Given the description of an element on the screen output the (x, y) to click on. 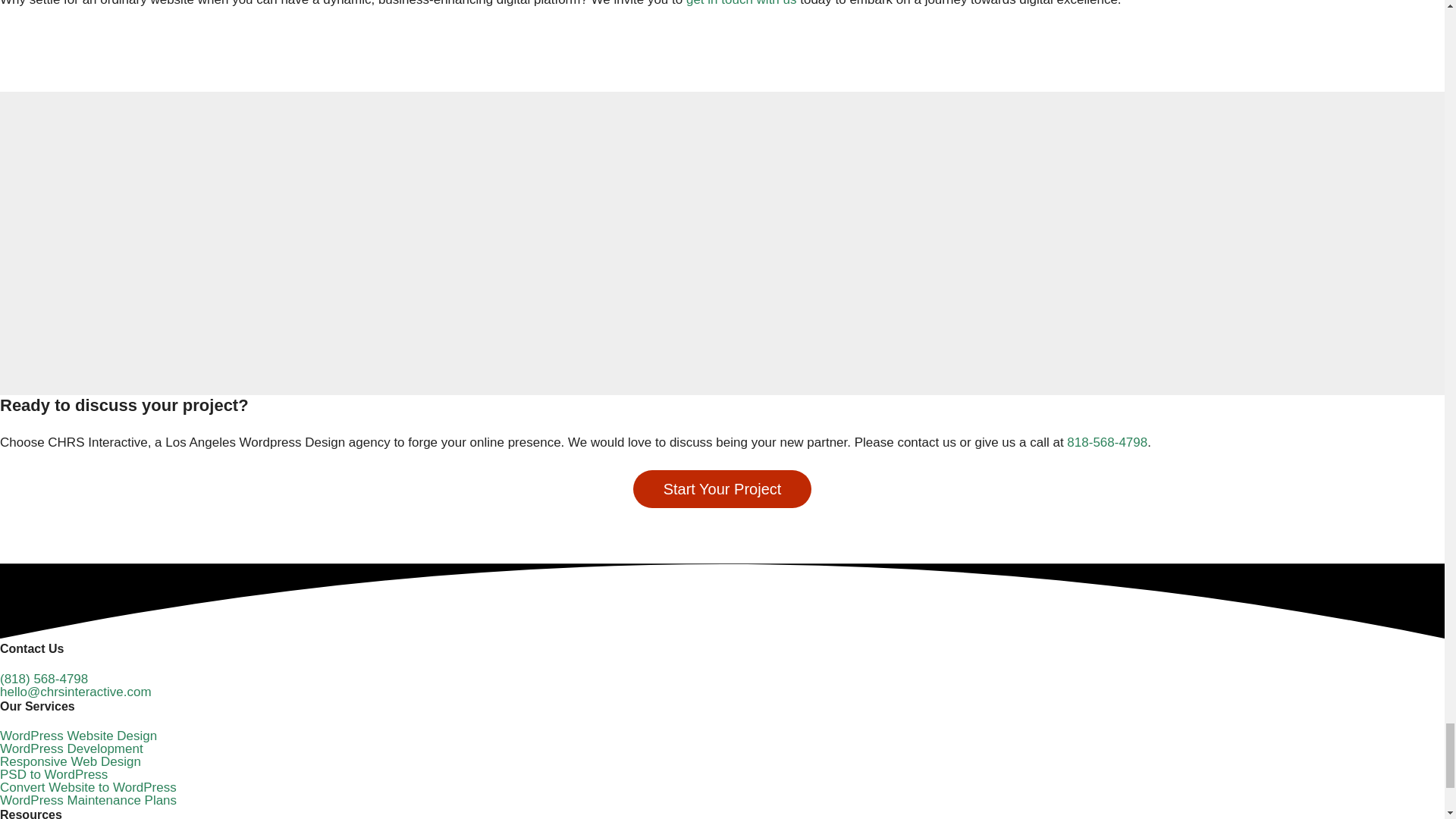
Responsive Web Design (70, 761)
WordPress Website Design (78, 735)
WordPress Development (71, 748)
